Given the description of an element on the screen output the (x, y) to click on. 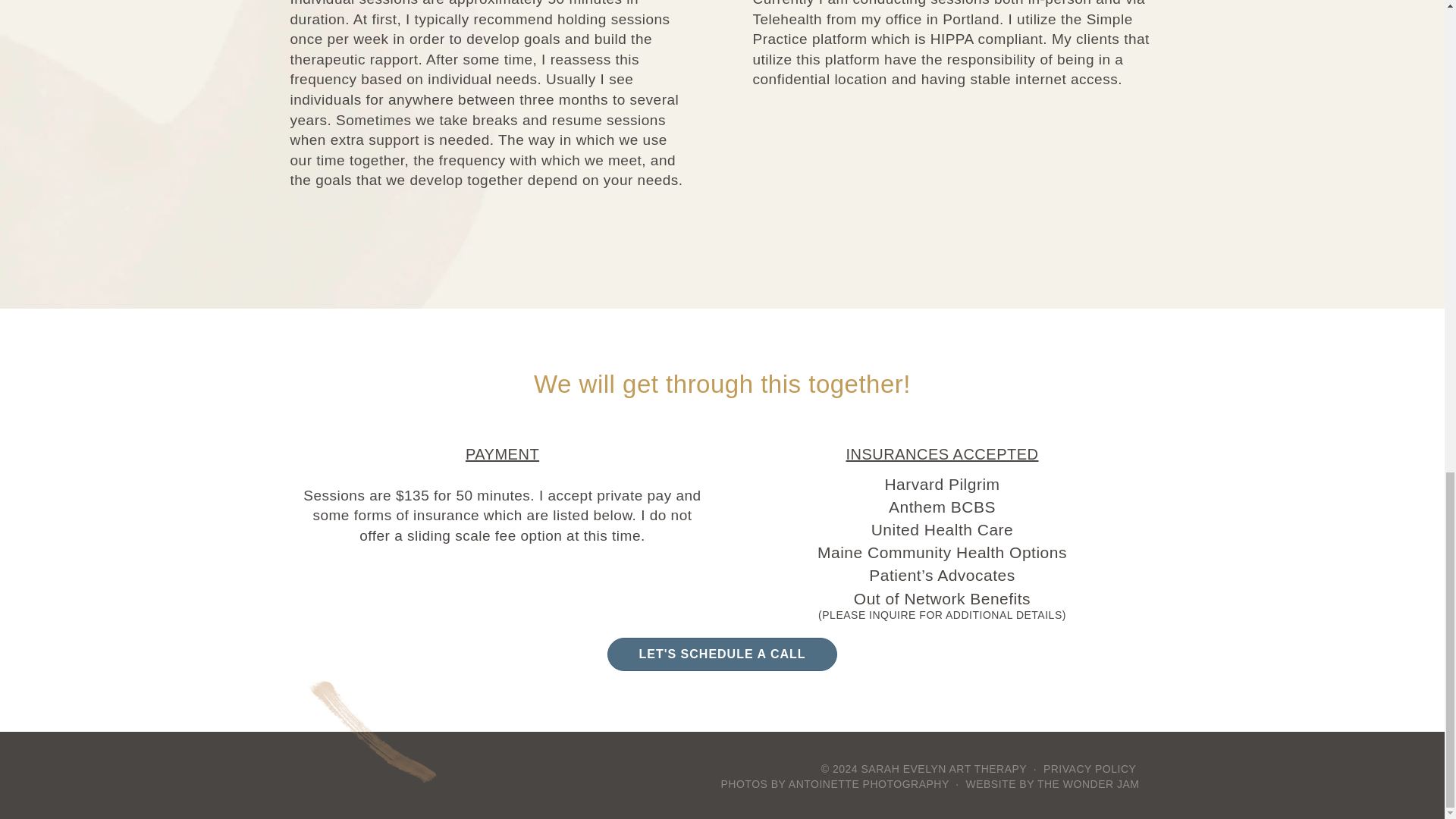
LET'S SCHEDULE A CALL (721, 654)
WEBSITE BY THE WONDER JAM (1051, 784)
PRIVACY POLICY (1089, 768)
PHOTOS BY ANTOINETTE PHOTOGRAPHY (834, 784)
